Given the description of an element on the screen output the (x, y) to click on. 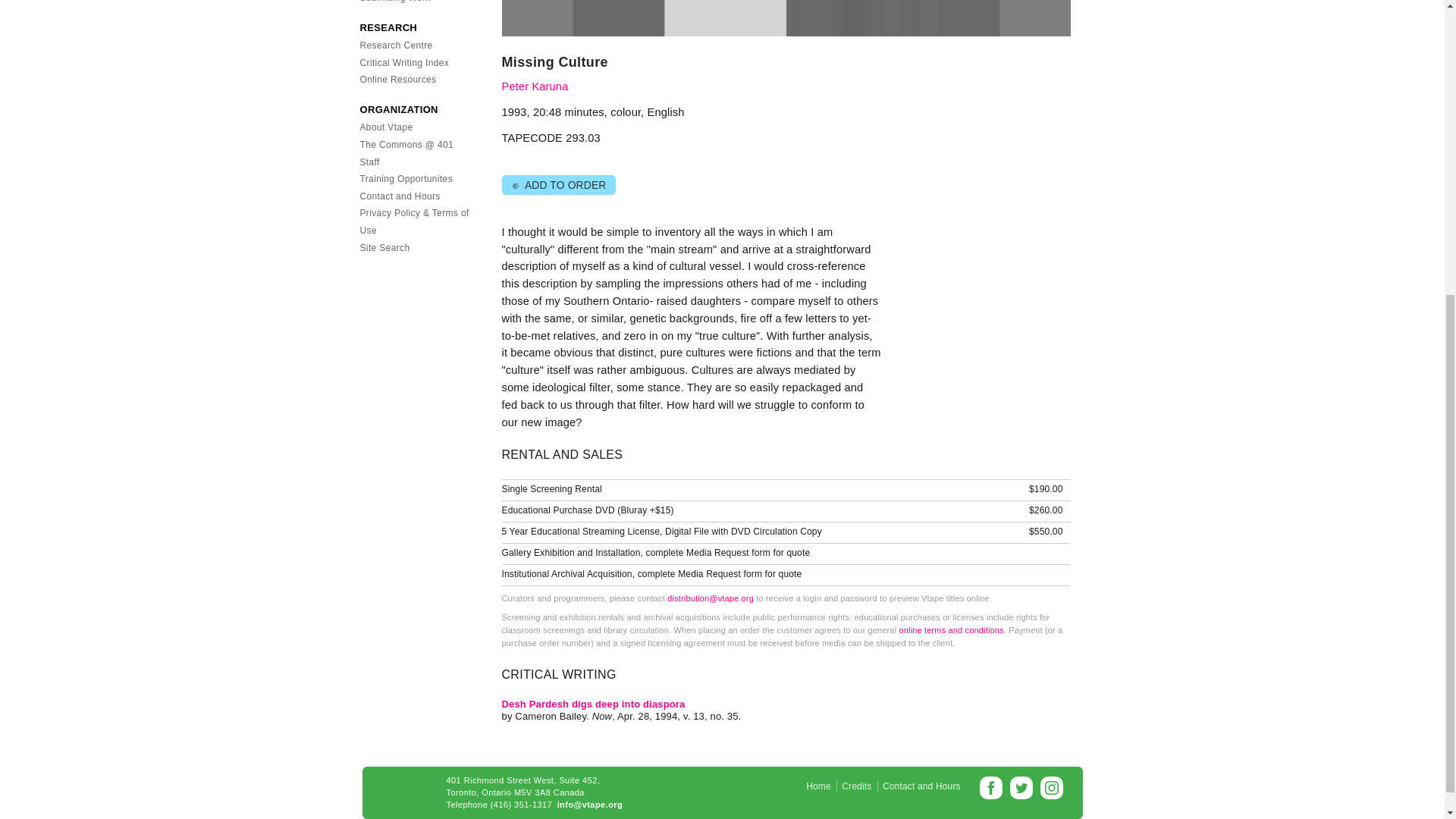
online terms and conditions (950, 629)
Critical Writing Index Search (403, 62)
Desh Pardesh digs deep into diaspora (593, 704)
Add this title to your media request list. (558, 184)
Peter Karuna (535, 86)
